Given the description of an element on the screen output the (x, y) to click on. 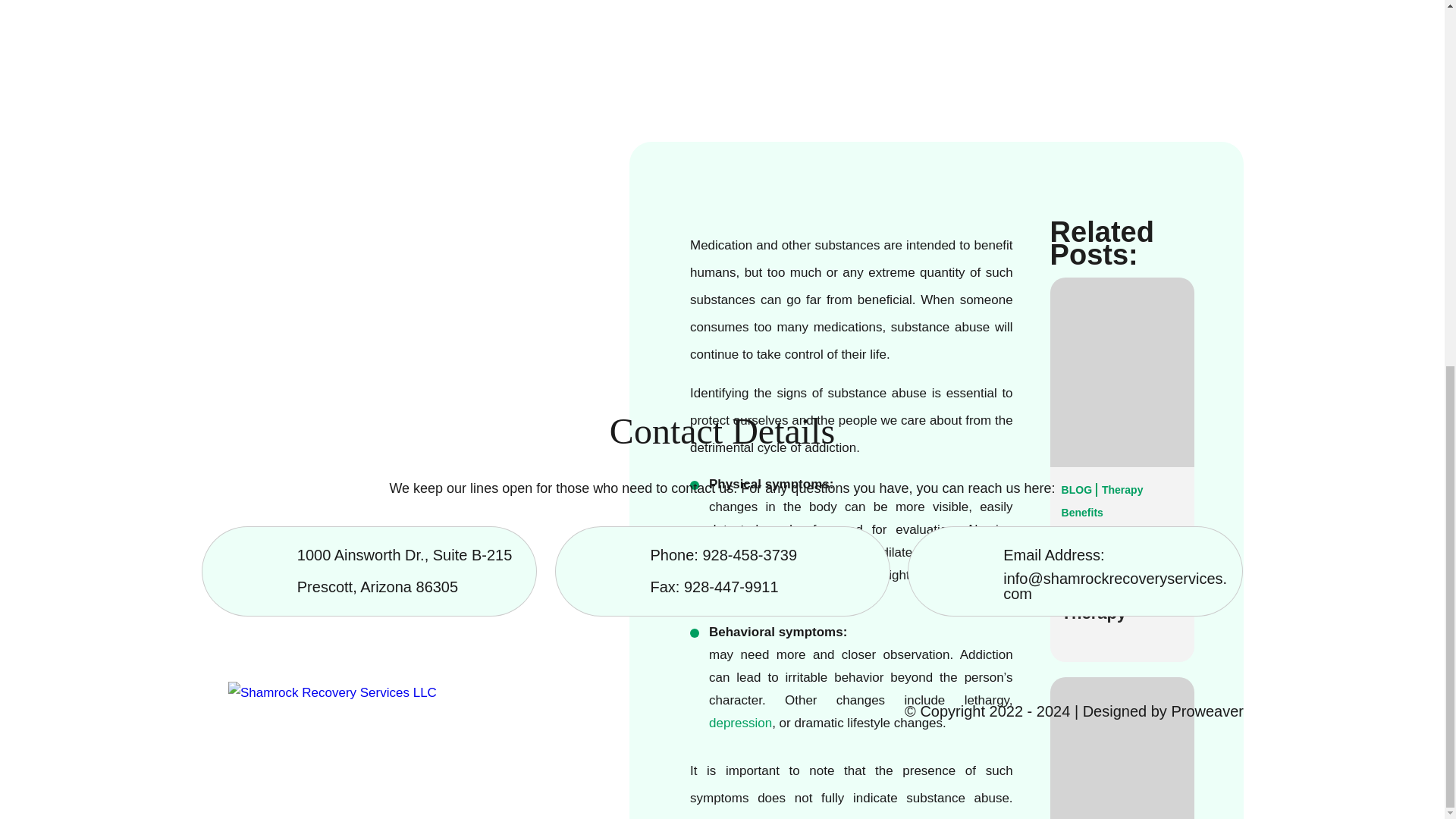
BLOG (1080, 490)
Improving Your Life Through Therapy (1101, 580)
Proweaver (1206, 710)
Therapy Benefits (1101, 501)
depression (740, 722)
